Given the description of an element on the screen output the (x, y) to click on. 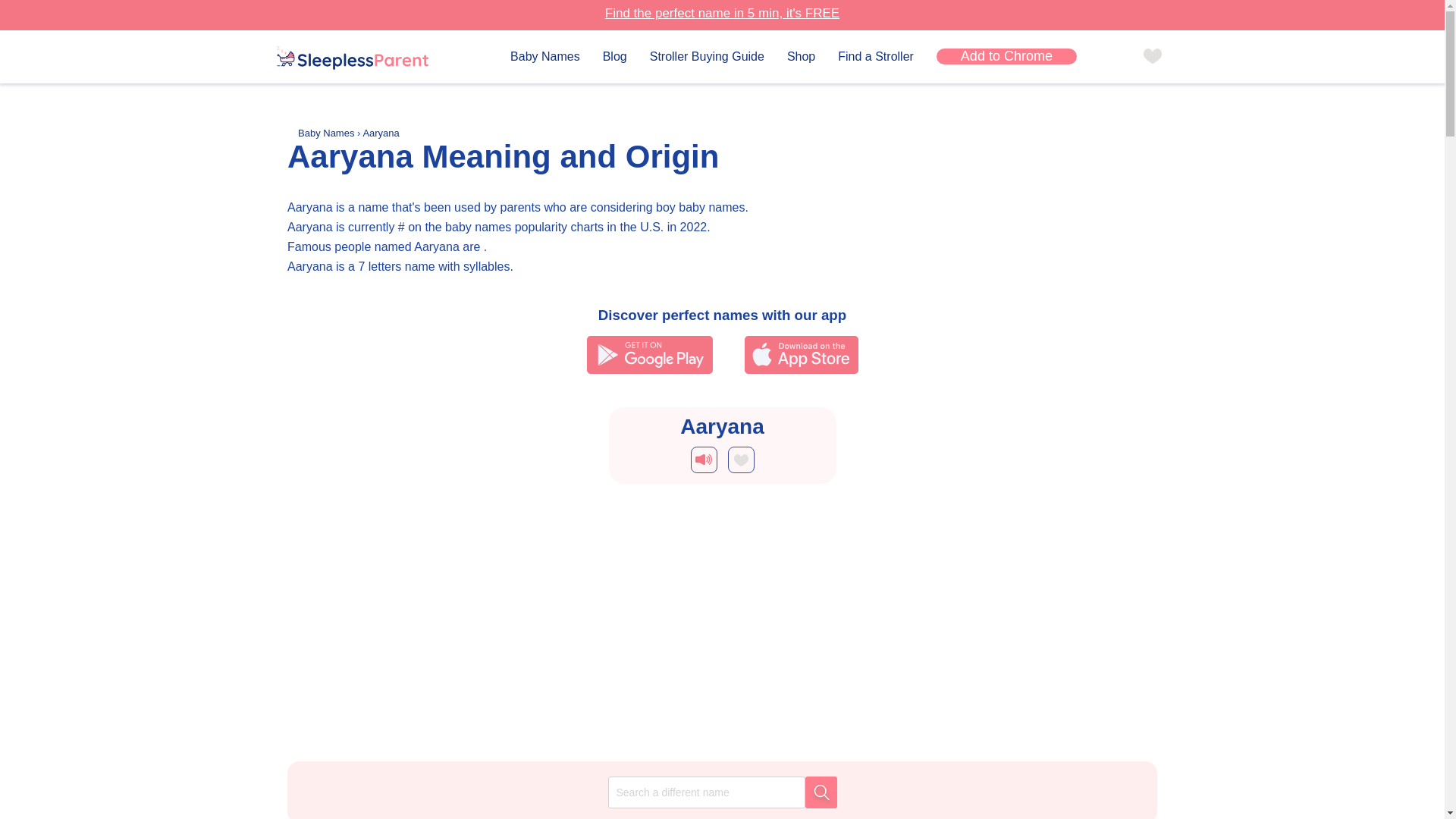
SleeplessParent android app (649, 354)
SleeplessParent ios app (801, 354)
Stroller Buying Guide (706, 56)
Blog (614, 56)
Add to Chrome (1006, 56)
Baby Names (327, 132)
Find a Stroller (876, 56)
sleeplessparent.com (352, 57)
Shop (801, 56)
home page (352, 58)
Add to Chrome (1006, 56)
Baby Names (545, 56)
Aaryana (380, 132)
